Given the description of an element on the screen output the (x, y) to click on. 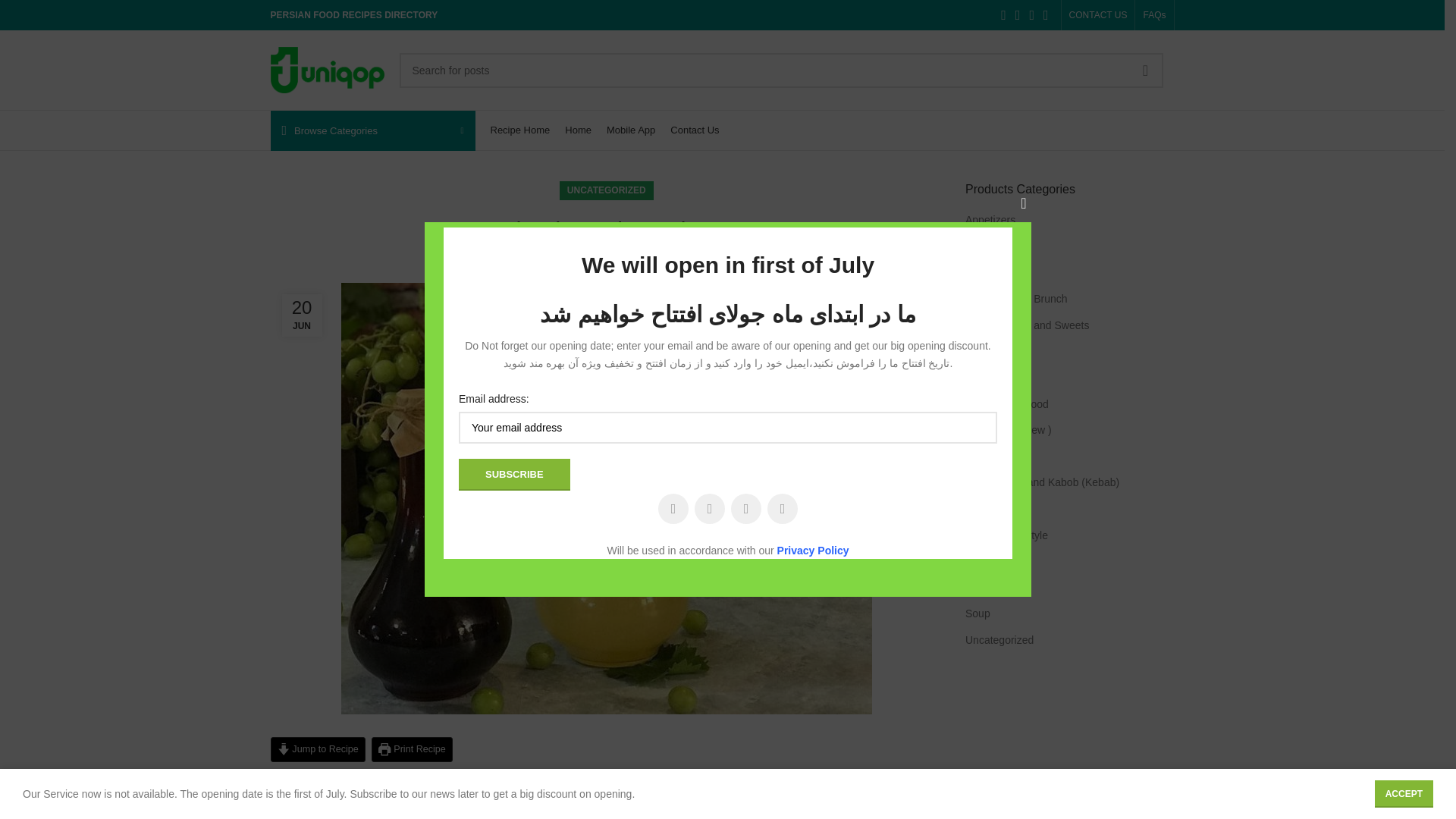
Subscribe (514, 474)
Contact Us (694, 130)
Privacy Policy (812, 550)
CONTACT US (1097, 15)
FAQs (1154, 15)
SEARCH (1145, 70)
Mobile App (631, 130)
Recipe Home (519, 130)
Search for posts (779, 70)
Home (577, 130)
Subscribe (514, 474)
